Given the description of an element on the screen output the (x, y) to click on. 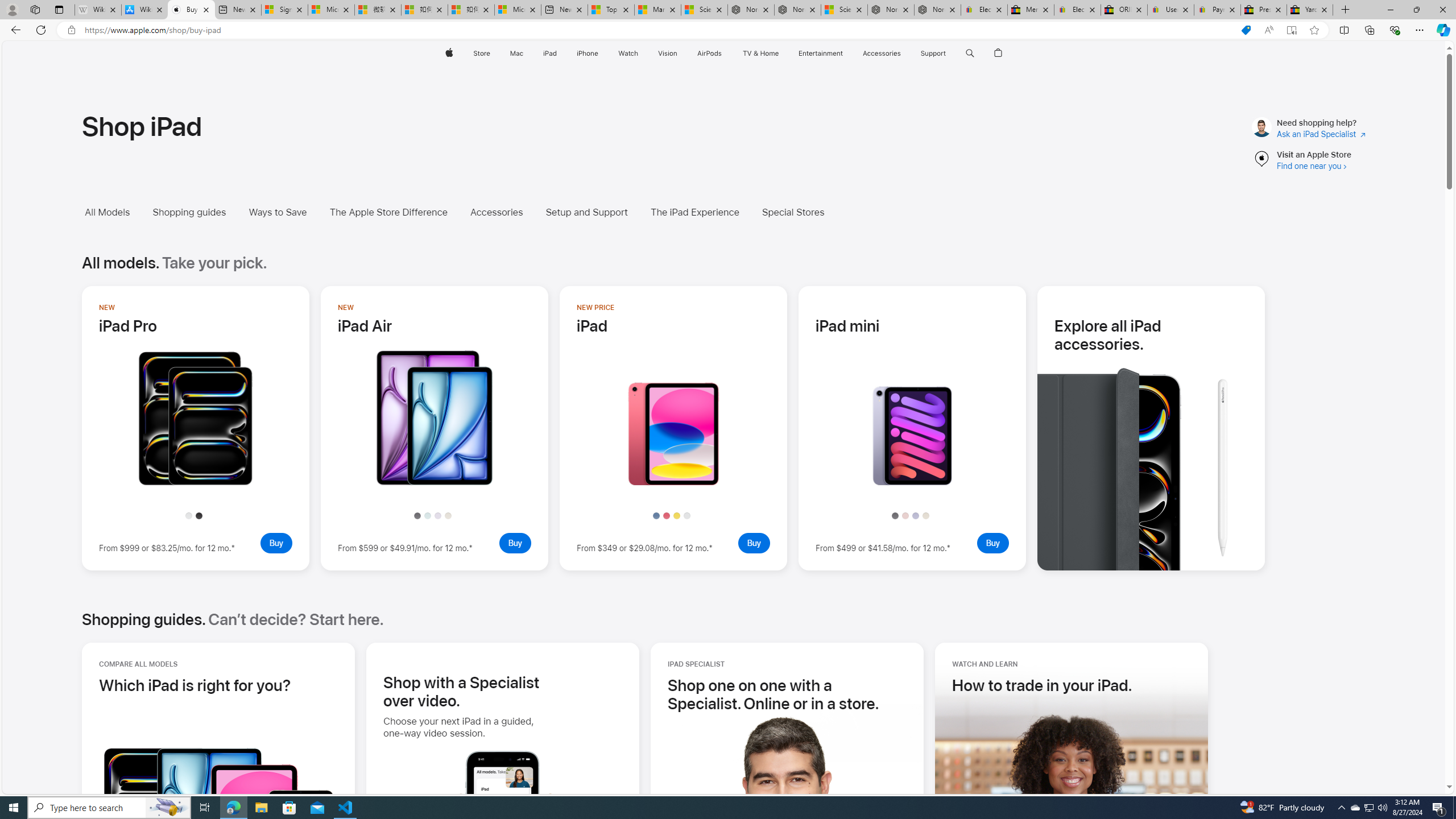
Take a closer look - iPad Air  (434, 482)
AirPods (709, 53)
TV & Home (759, 53)
Starlight (925, 515)
Space Black (198, 515)
AirPods menu (723, 53)
Buy - iPad mini  (992, 543)
Nordace - Summer Adventures 2024 (890, 9)
Explore all iPad accessories. (1150, 334)
Yellow (675, 515)
iPhone (587, 53)
